Given the description of an element on the screen output the (x, y) to click on. 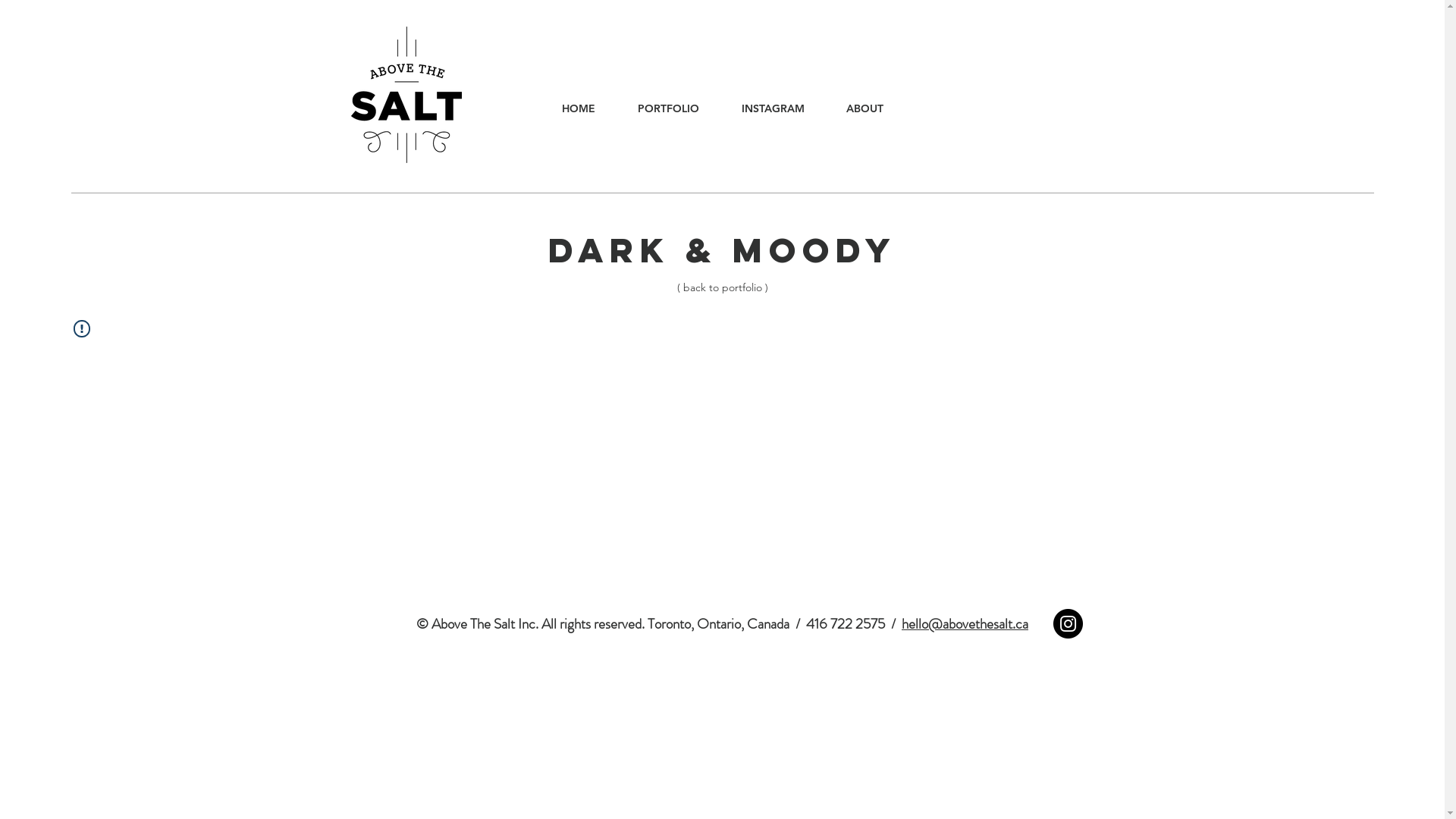
PORTFOLIO Element type: text (667, 108)
ABOUT Element type: text (864, 108)
( back to portfolio ) Element type: text (722, 287)
INSTAGRAM Element type: text (772, 108)
HOME Element type: text (577, 108)
